Given the description of an element on the screen output the (x, y) to click on. 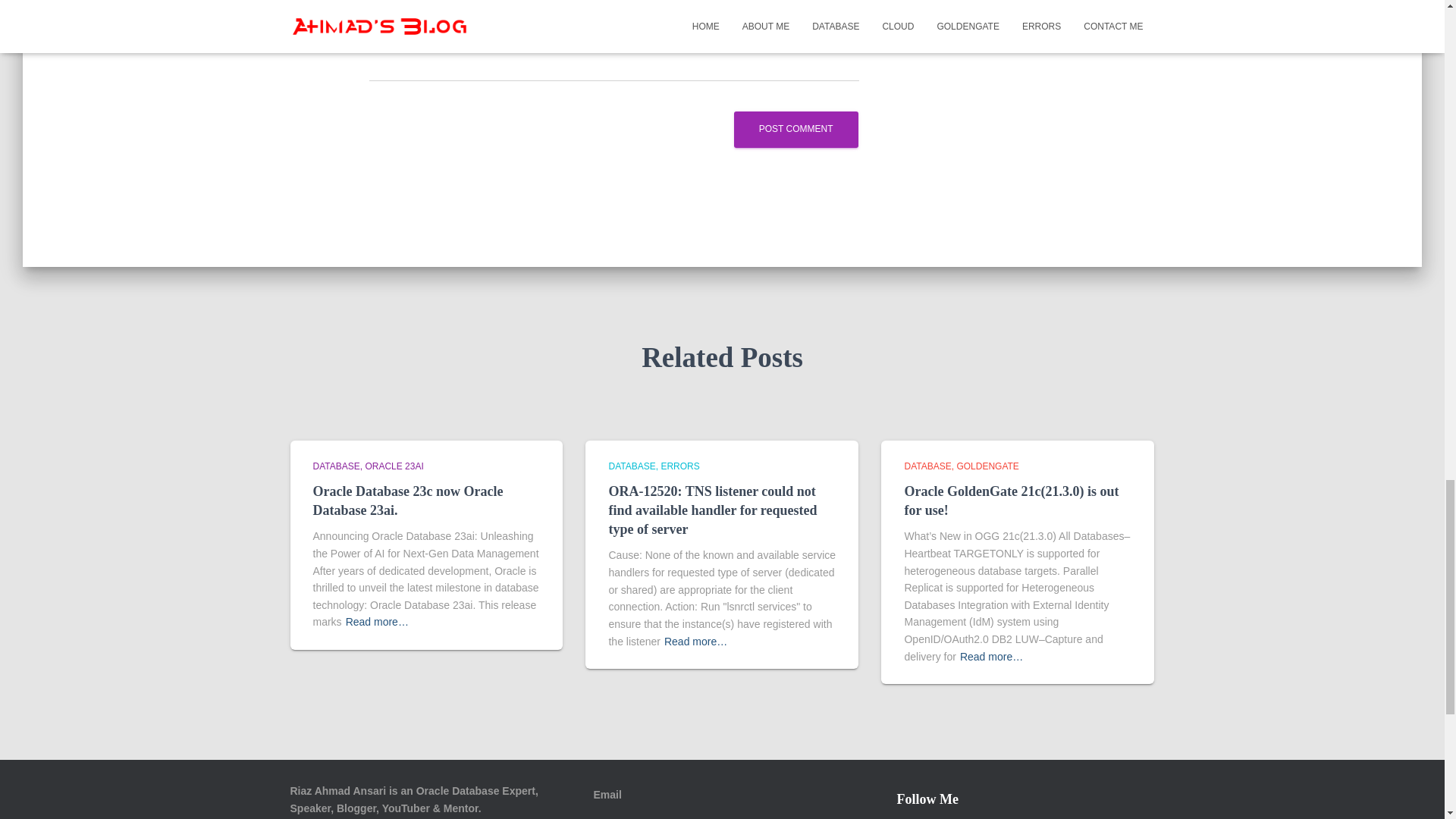
Oracle Database 23c now Oracle Database 23ai. (407, 500)
View all posts in Database (339, 466)
View all posts in Database (930, 466)
View all posts in Oracle 23AI (394, 466)
Post Comment (796, 129)
View all posts in ERRORS (679, 466)
Post Comment (796, 129)
View all posts in Database (634, 466)
View all posts in GoldenGate (986, 466)
